Given the description of an element on the screen output the (x, y) to click on. 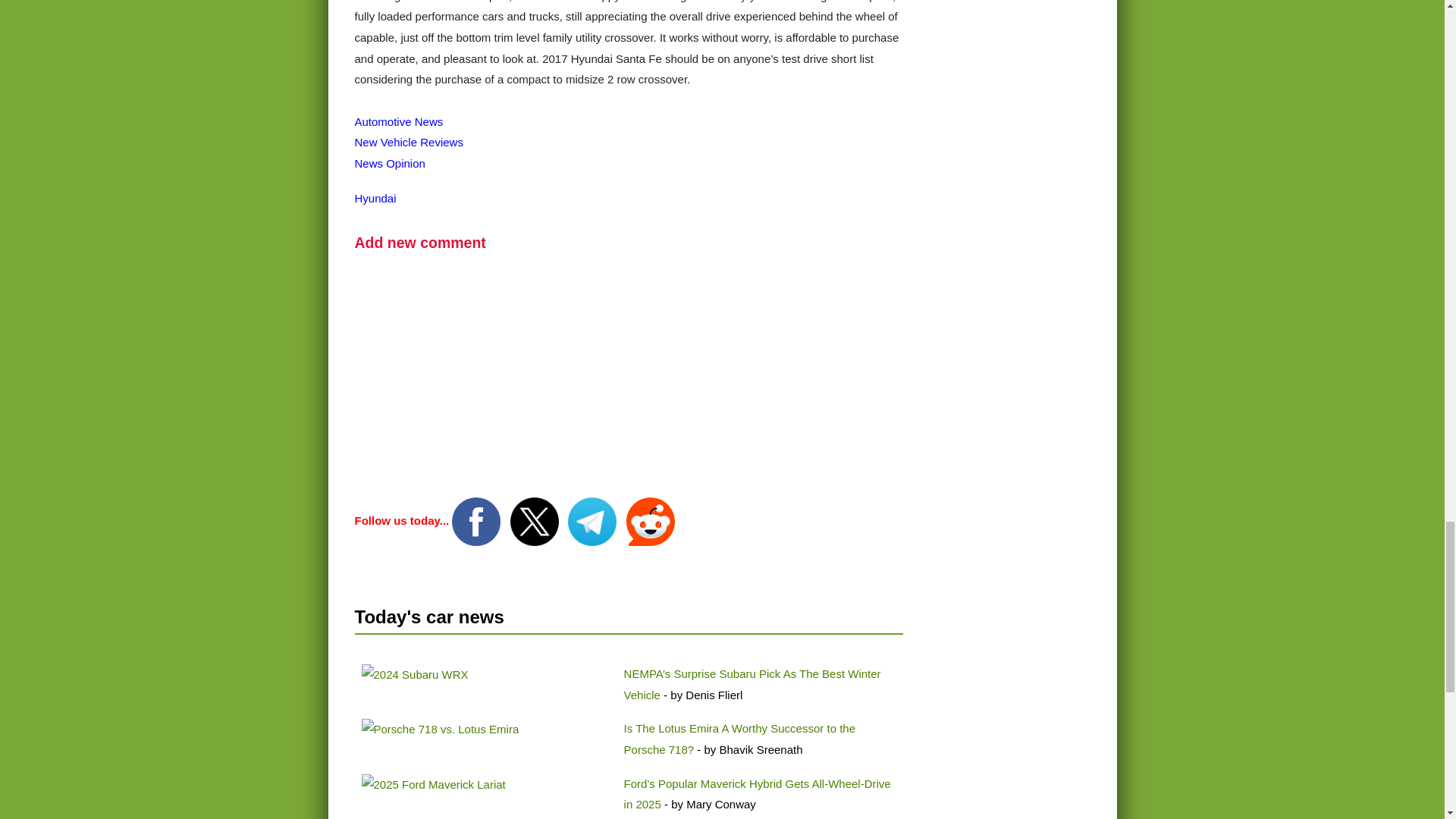
Automotive News (399, 121)
Join us on Telegram! (593, 520)
Share your thoughts and opinions. (420, 242)
Porsche 718 vs. Lotus Emira  (439, 729)
Advertisement (629, 384)
Hyundai (375, 197)
Ford  (433, 784)
Is The Lotus Emira A Worthy Successor to the Porsche 718? (740, 738)
New Vehicle Reviews (409, 141)
Ford's Popular Maverick Hybrid Gets All-Wheel-Drive in 2025 (757, 794)
Join us on Reddit! (650, 520)
Add new comment (420, 242)
News Opinion (390, 163)
2024 Subaru WRX in deep snow (414, 674)
